Given the description of an element on the screen output the (x, y) to click on. 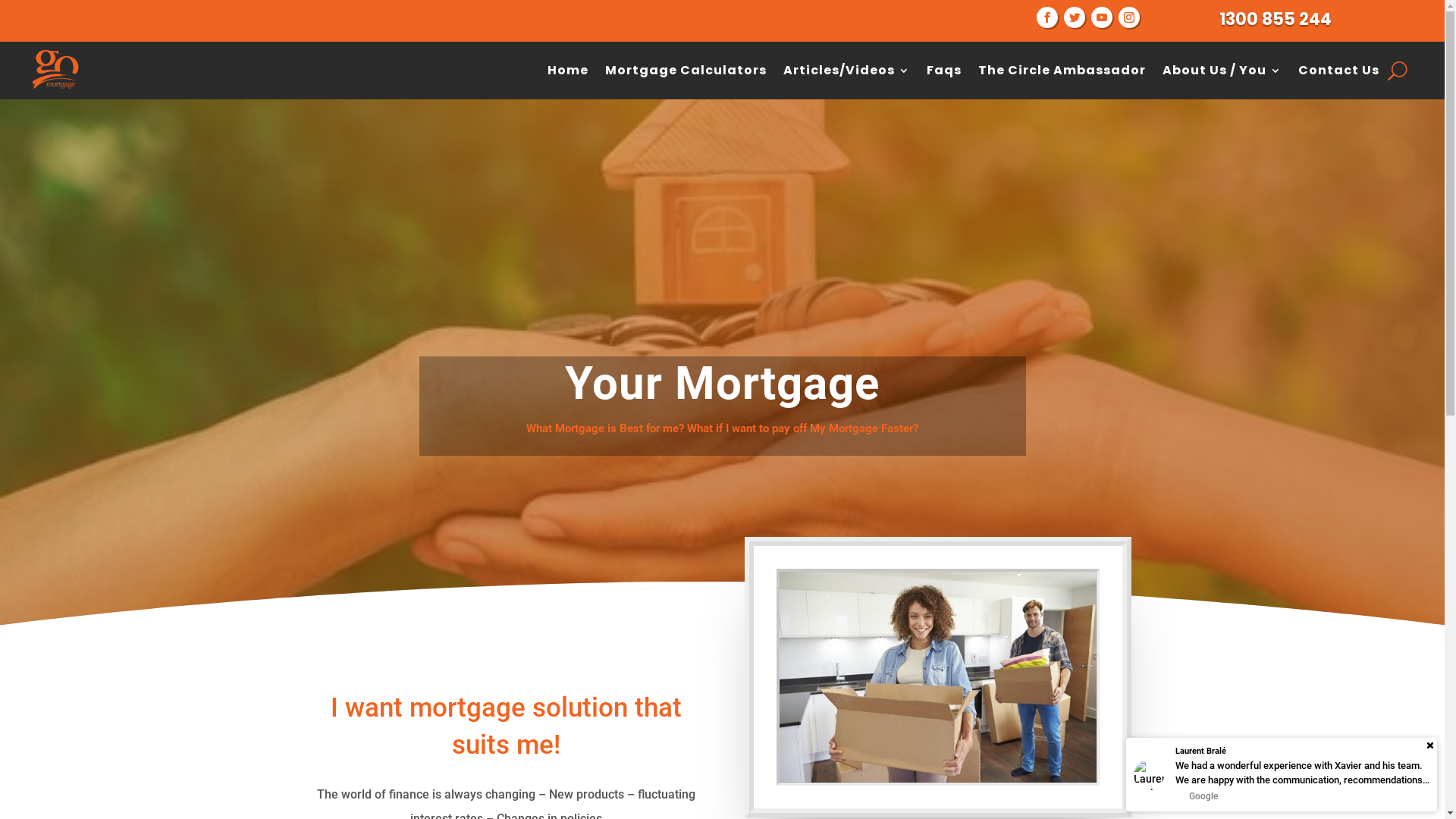
Your Mortgage Element type: hover (937, 676)
Faqs Element type: text (943, 70)
Home Element type: text (567, 70)
Follow on Facebook Element type: hover (1046, 17)
Follow on Twitter Element type: hover (1074, 17)
Articles/Videos Element type: text (846, 70)
The Circle Ambassador Element type: text (1061, 70)
Contact Us Element type: text (1338, 70)
Follow on Instagram Element type: hover (1128, 17)
1300 855 244  Element type: text (1277, 19)
Mortgage Calculators Element type: text (685, 70)
About Us / You Element type: text (1221, 70)
Follow on Youtube Element type: hover (1101, 17)
